Given the description of an element on the screen output the (x, y) to click on. 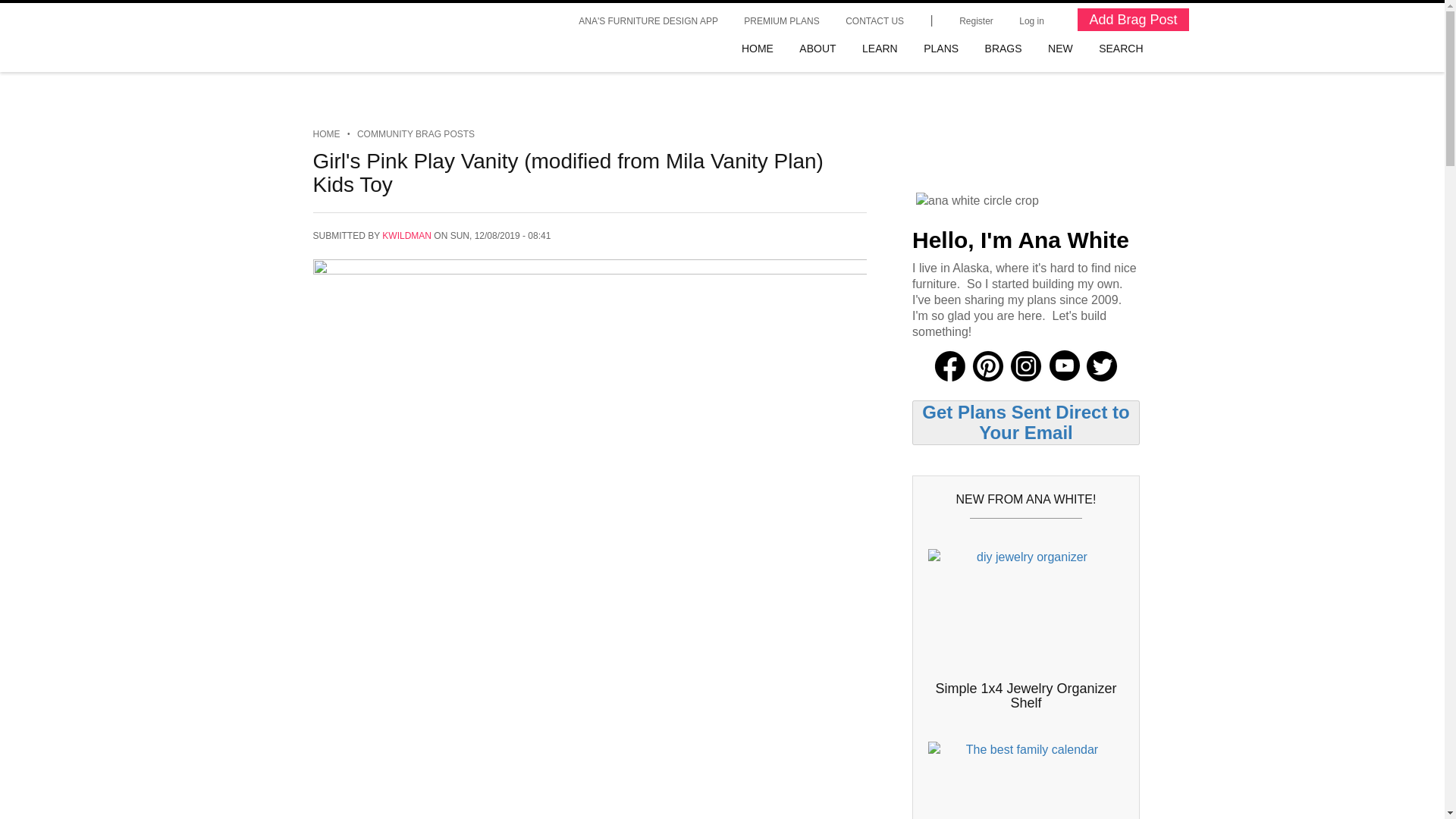
Add Brag Post (1132, 19)
Register (975, 20)
NEW (1060, 48)
Log in (1031, 20)
Get Plans Sent Direct to Your Email (1025, 422)
KWILDMAN (405, 235)
PREMIUM PLANS (780, 20)
Simple 1x4 Jewelry Organizer Shelf (1025, 695)
COMMUNITY BRAG POSTS (415, 133)
